Given the description of an element on the screen output the (x, y) to click on. 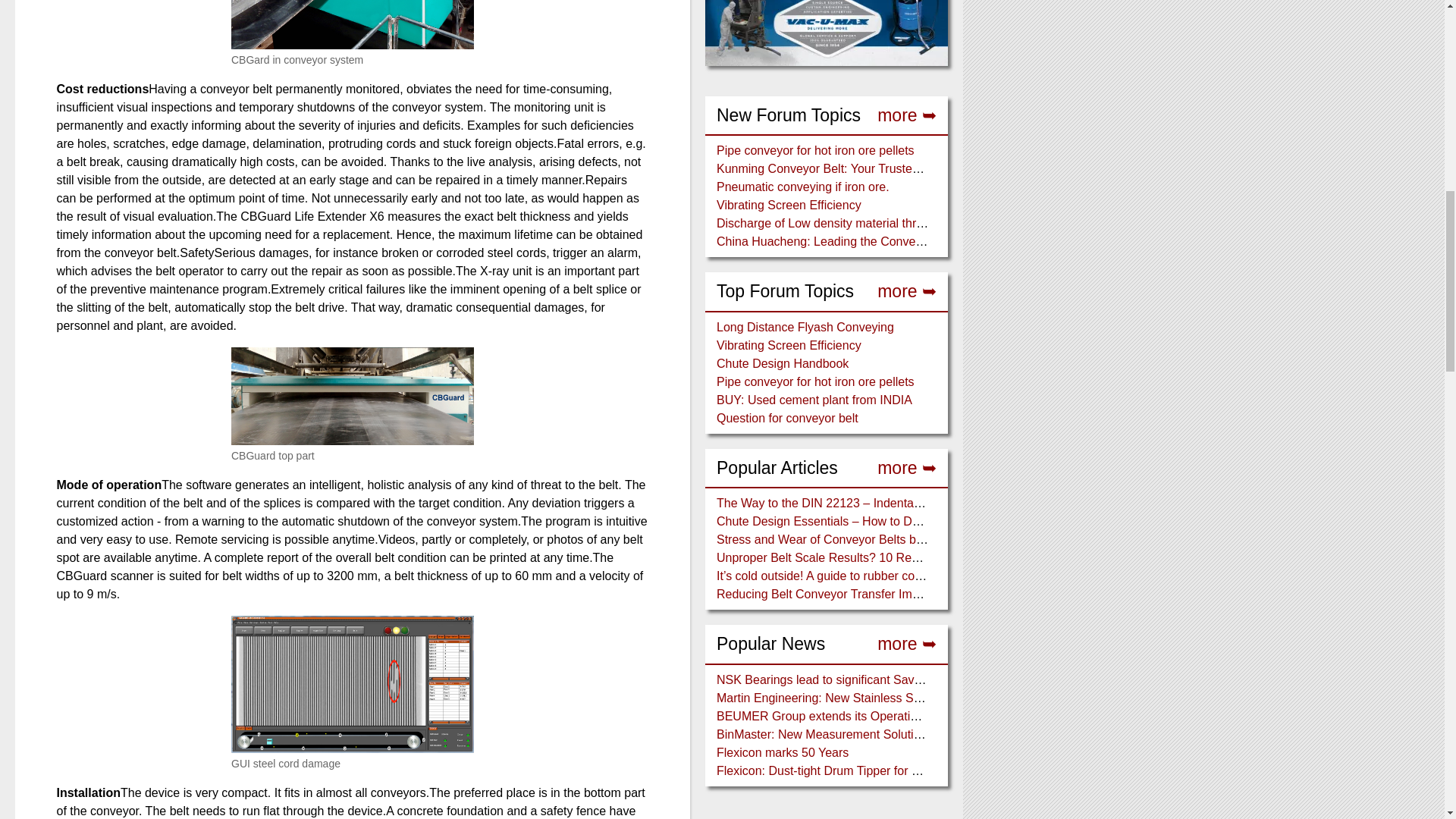
Link to the bulk-online user forum (906, 115)
Link to the bulk-online user forum (906, 468)
Link to the bulk-online user forum (906, 291)
Link to the bulk-online user forum (906, 643)
